Given the description of an element on the screen output the (x, y) to click on. 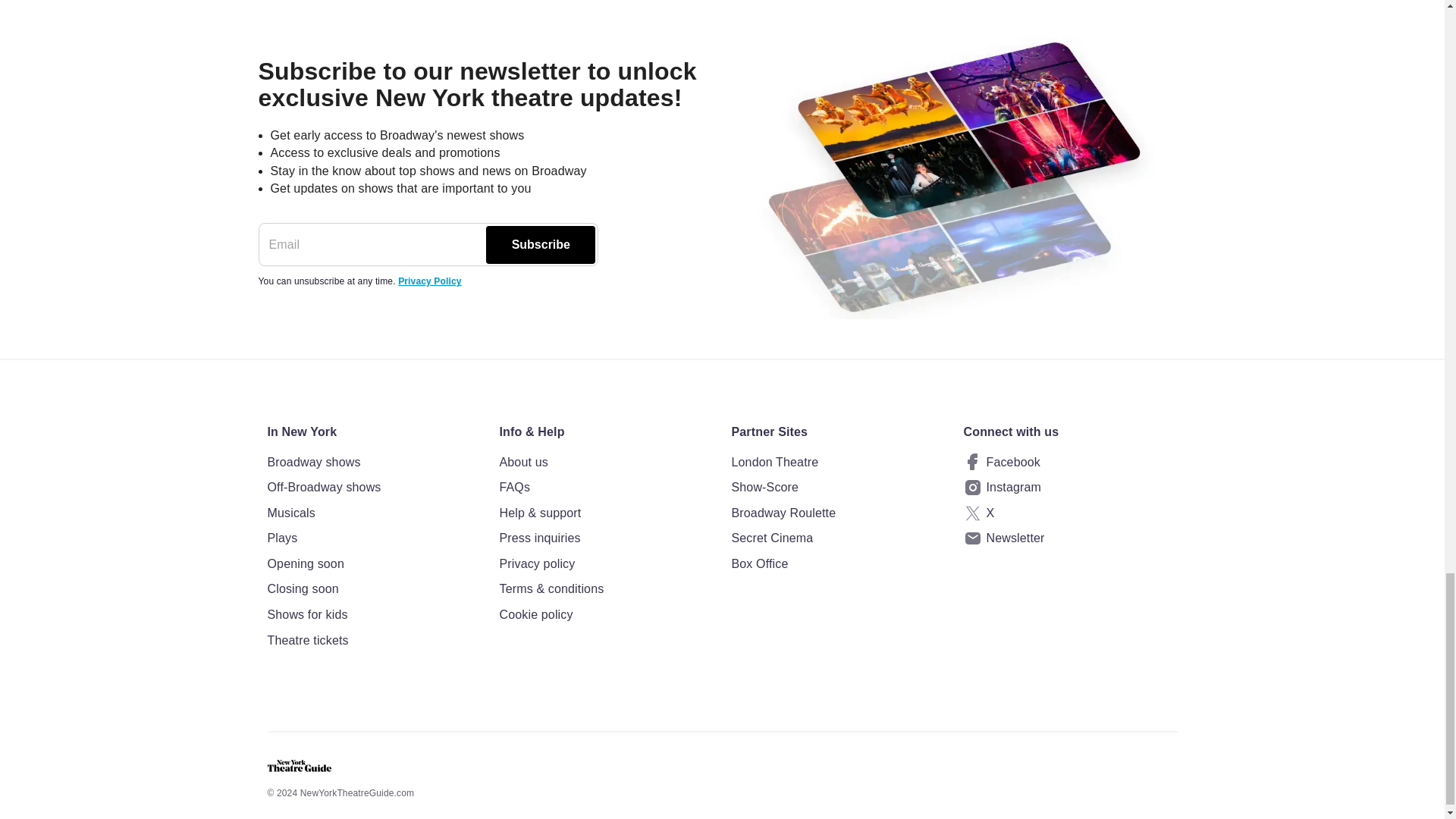
Privacy policy (606, 564)
Shows for kids (373, 614)
Show-Score (837, 487)
Theatre tickets (373, 640)
Press inquiries (606, 537)
Off-Broadway shows (373, 487)
About us (606, 462)
FAQs (606, 487)
Musicals (373, 513)
London Theatre (837, 462)
Opening soon (373, 564)
Cookie policy (606, 614)
Broadway Roulette (837, 513)
Closing soon (373, 588)
Plays (373, 537)
